Given the description of an element on the screen output the (x, y) to click on. 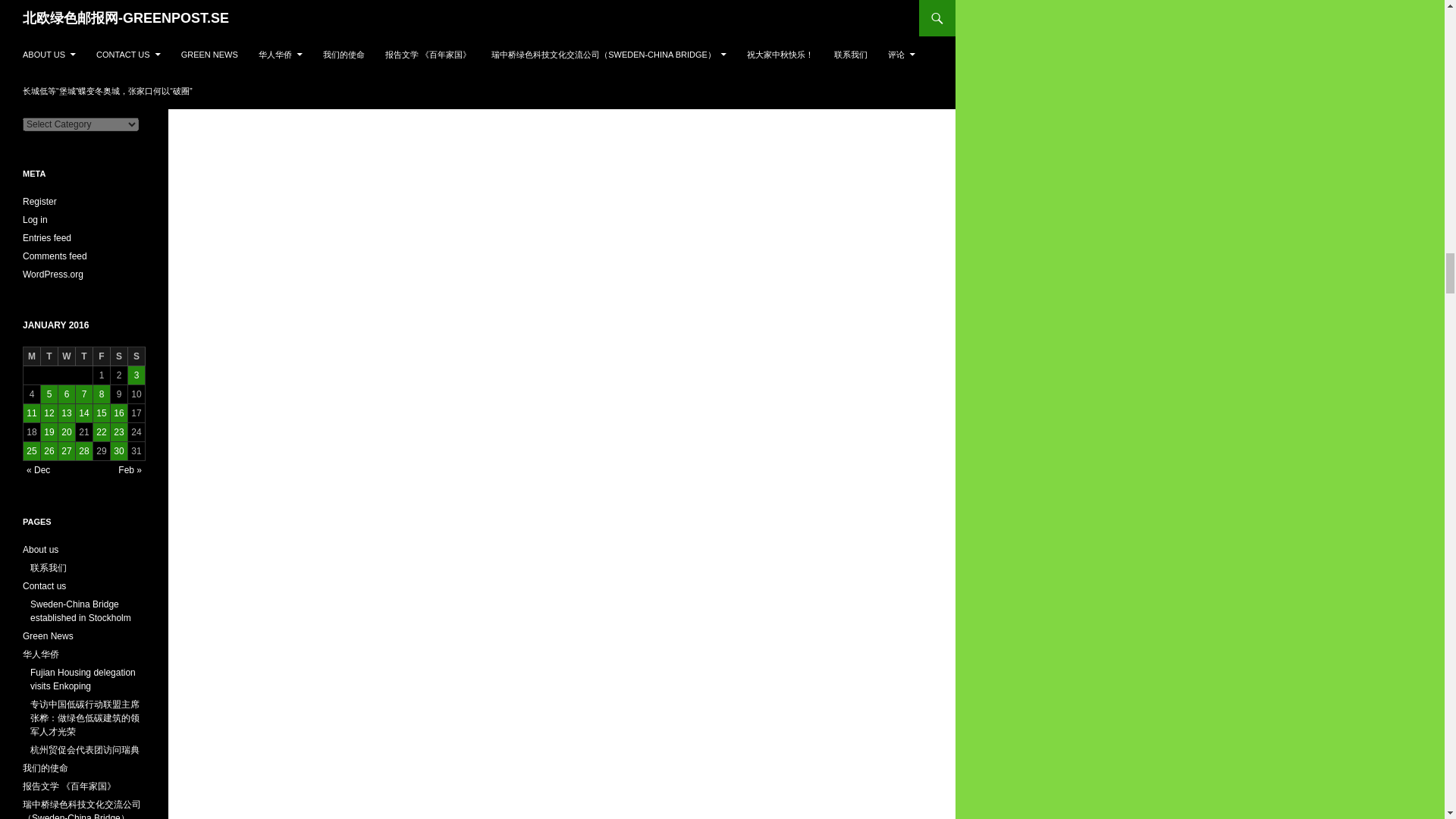
Sunday (136, 356)
Saturday (119, 356)
Monday (31, 356)
Wednesday (66, 356)
Tuesday (49, 356)
Friday (101, 356)
Thursday (84, 356)
